Given the description of an element on the screen output the (x, y) to click on. 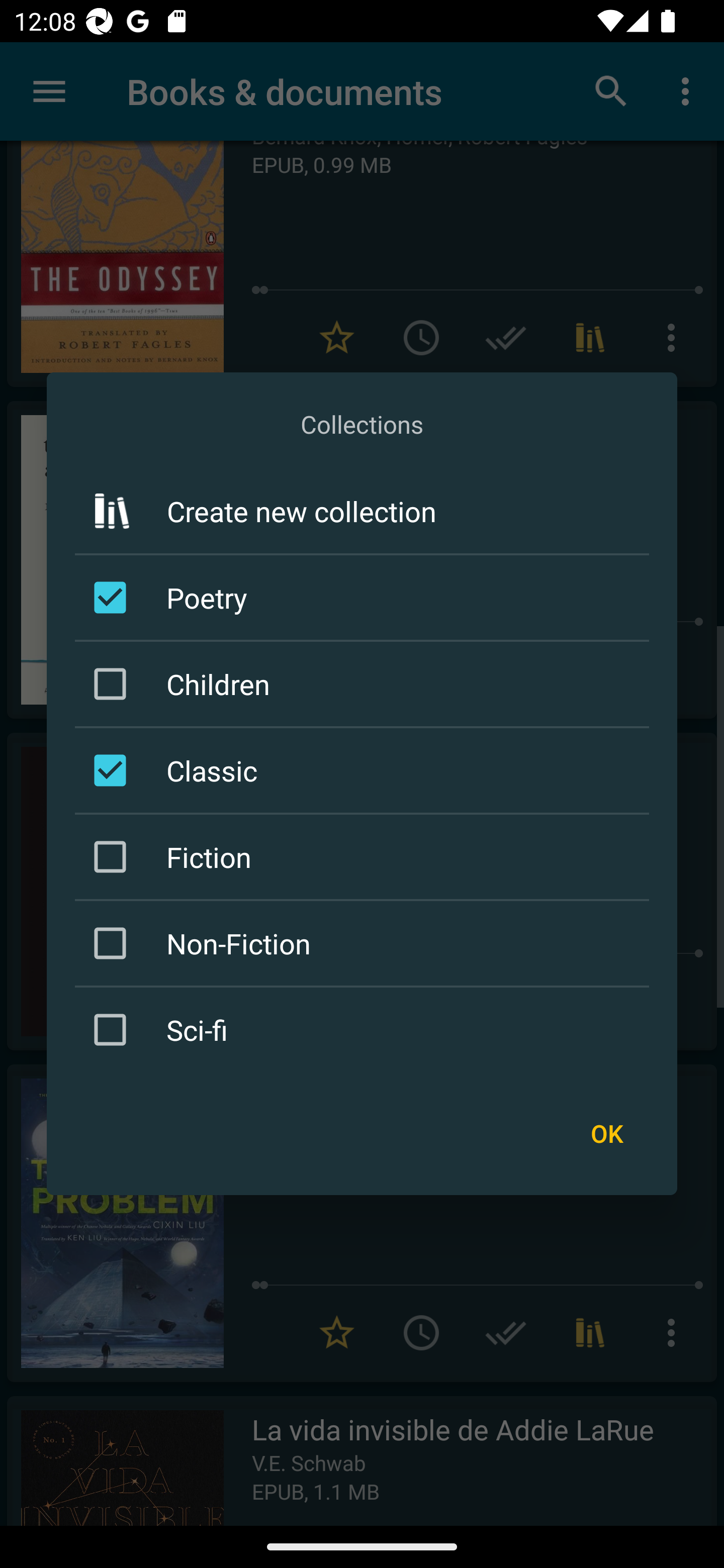
Create new collection (361, 510)
Poetry (365, 597)
Children (365, 683)
Classic (365, 769)
Fiction (365, 856)
Non-Fiction (365, 943)
Sci-fi (365, 1029)
OK (606, 1133)
